Given the description of an element on the screen output the (x, y) to click on. 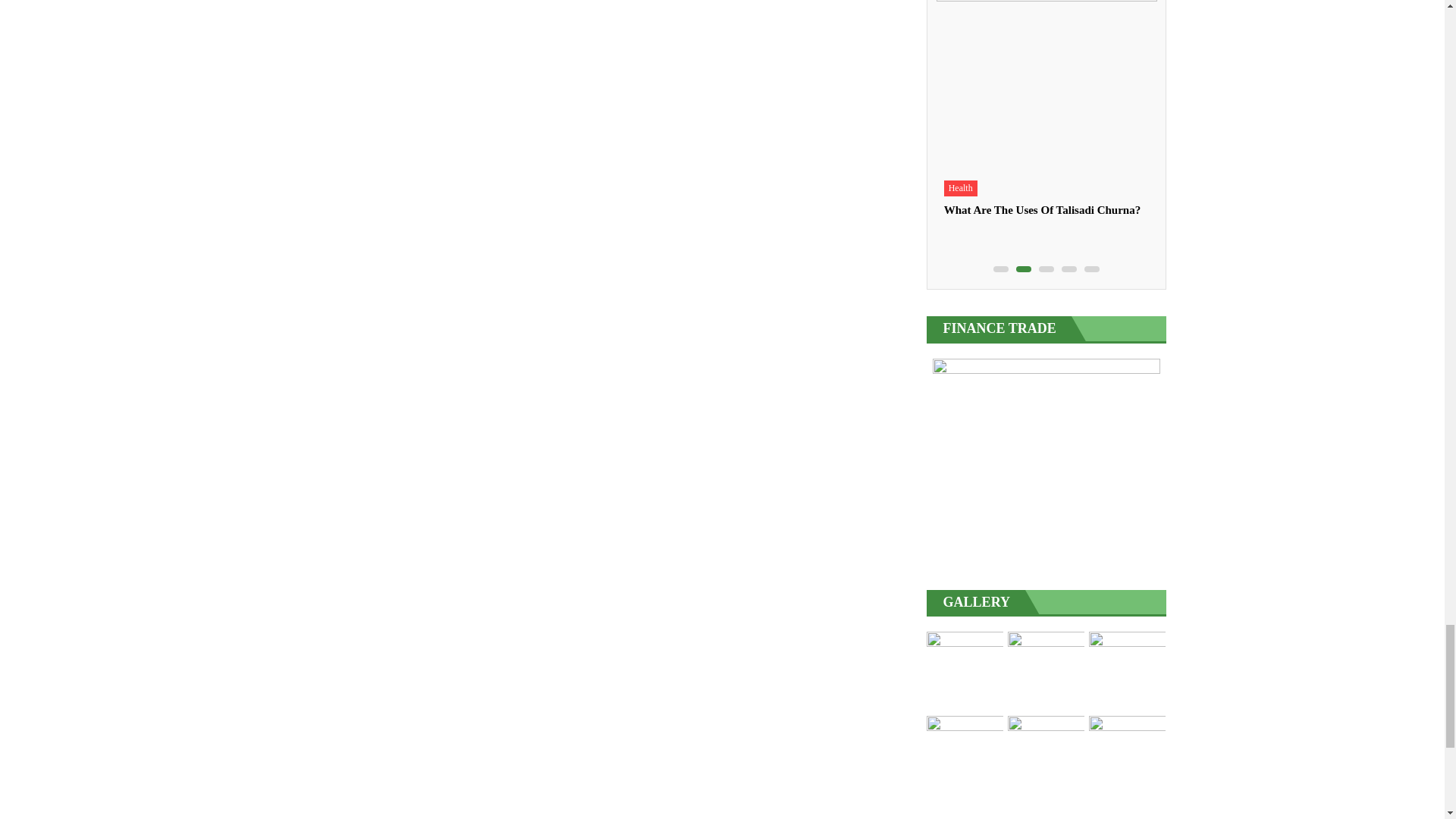
What Are The Uses Of Talisadi Churna? (1046, 85)
